Given the description of an element on the screen output the (x, y) to click on. 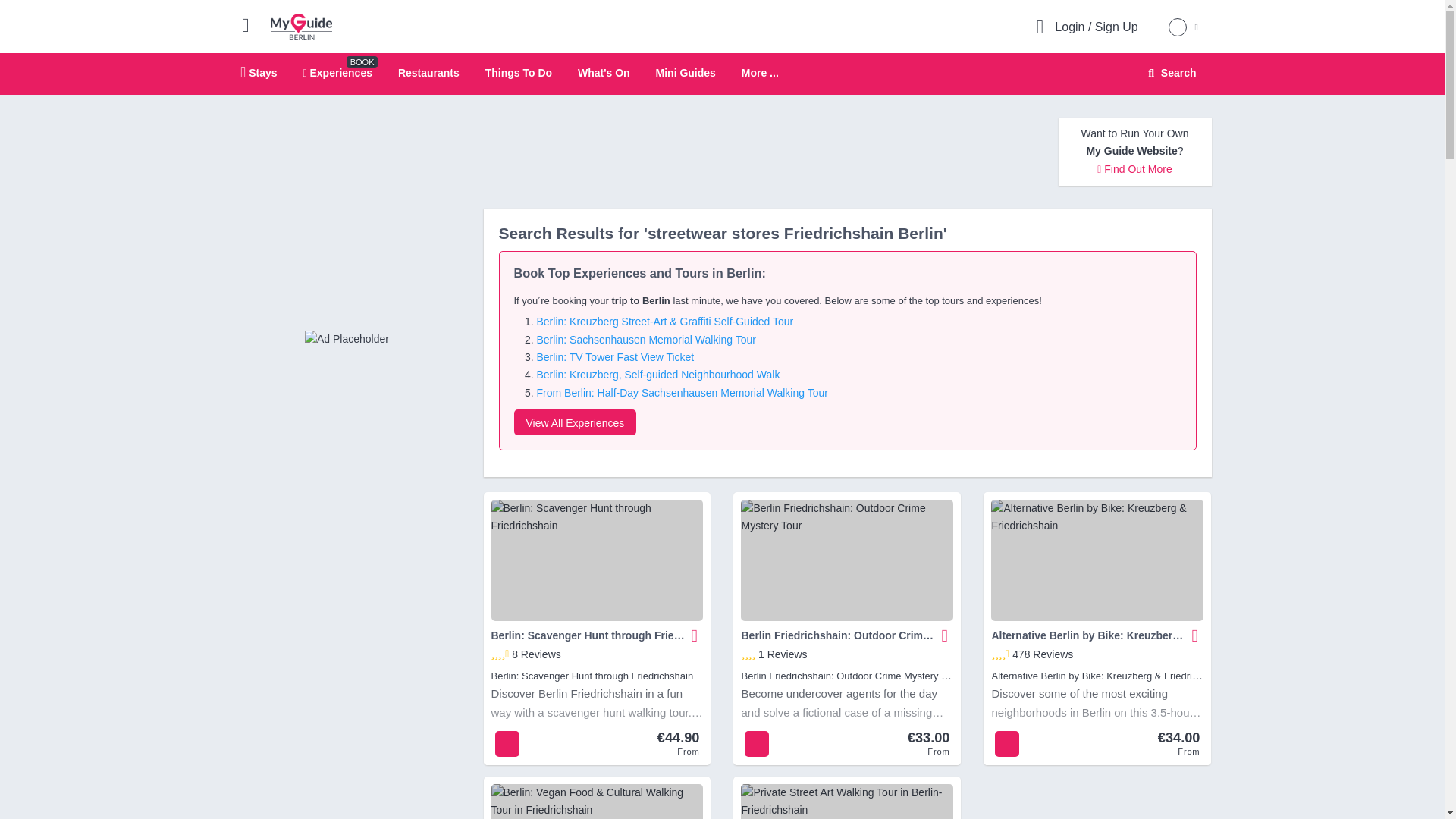
My Guide Berlin (300, 25)
Stays (259, 72)
Mini Guides (686, 72)
Add to My Guide (944, 635)
What's On (604, 72)
View All Experiences (346, 337)
Add to My Guide (692, 635)
Add to My Guide (1195, 635)
Things To Do (517, 72)
View All Experiences (575, 421)
Add to My Guide (694, 635)
Add to My Guide (942, 635)
Search Website (1170, 73)
More ... (759, 72)
Search (1169, 72)
